Given the description of an element on the screen output the (x, y) to click on. 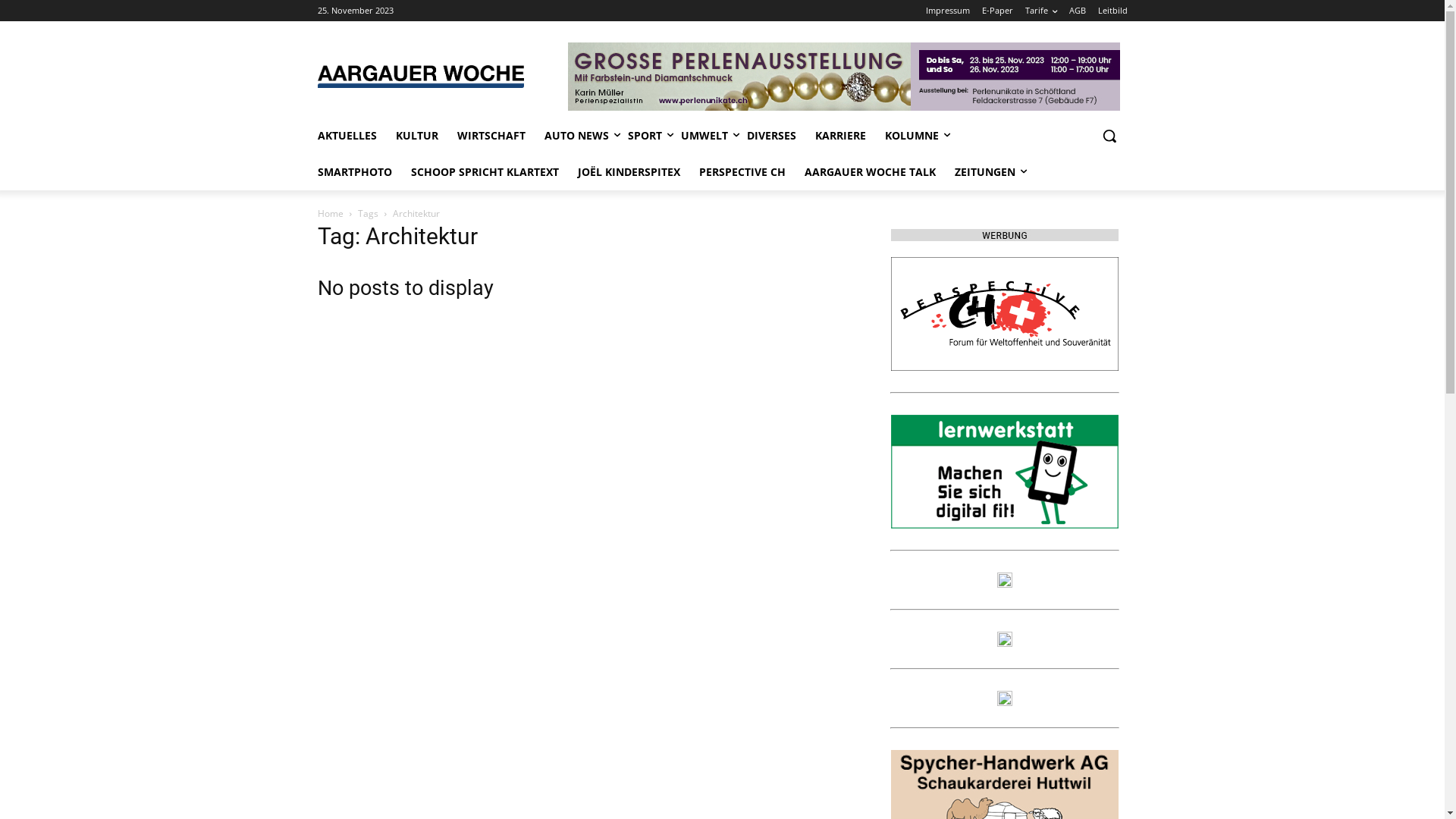
SPORT Element type: text (644, 135)
smartphoto Element type: hover (1003, 579)
PERSPECTIVE CH Element type: text (742, 171)
DIVERSES Element type: text (770, 135)
Home Element type: text (329, 213)
Impressum Element type: text (947, 10)
AGB Element type: text (1077, 10)
AKTUELLES Element type: text (346, 135)
SMARTPHOTO Element type: text (353, 171)
UMWELT Element type: text (704, 135)
Leitbild Element type: text (1112, 10)
E-Paper Element type: text (996, 10)
SCHOOP SPRICHT KLARTEXT Element type: text (484, 171)
Arrigato GmbH Element type: hover (1003, 638)
Tarife Element type: text (1041, 10)
PERSPECTIVE CH Element type: hover (1003, 313)
KULTUR Element type: text (416, 135)
AARGAUER WOCHE TALK Element type: text (869, 171)
ZEITUNGEN Element type: text (983, 171)
AUTO NEWS Element type: text (576, 135)
Grosse Perlenausstellung Element type: hover (843, 76)
KARRIERE Element type: text (839, 135)
WIRTSCHAFT Element type: text (490, 135)
KOLUMNE Element type: text (911, 135)
Lernwerkstatt Element type: hover (1003, 471)
